Given the description of an element on the screen output the (x, y) to click on. 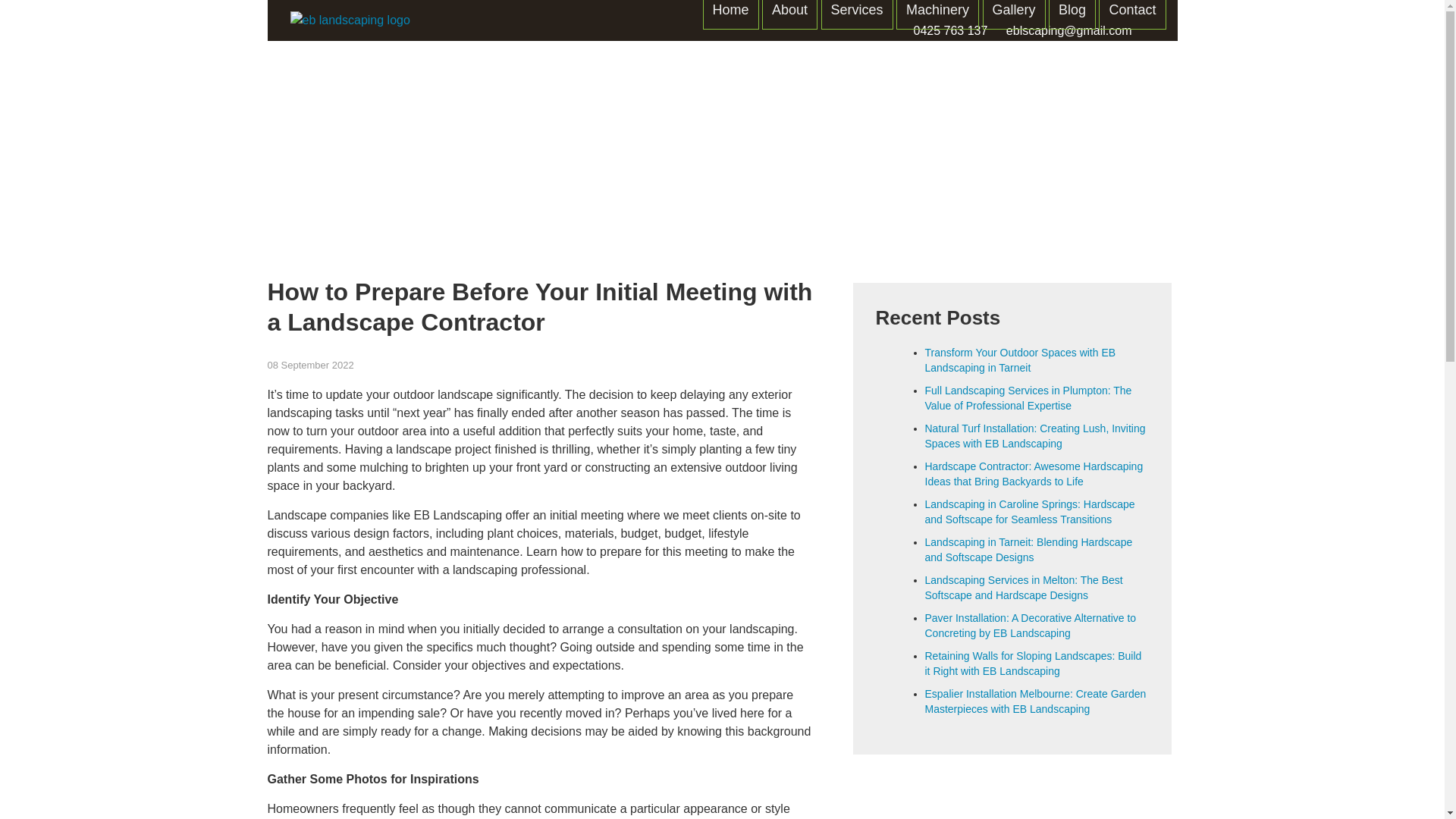
Contact (1132, 14)
Machinery (937, 14)
Transform Your Outdoor Spaces with EB Landscaping in Tarneit (1020, 359)
Home (730, 14)
Services (857, 14)
Blog (1072, 14)
About (788, 14)
